Given the description of an element on the screen output the (x, y) to click on. 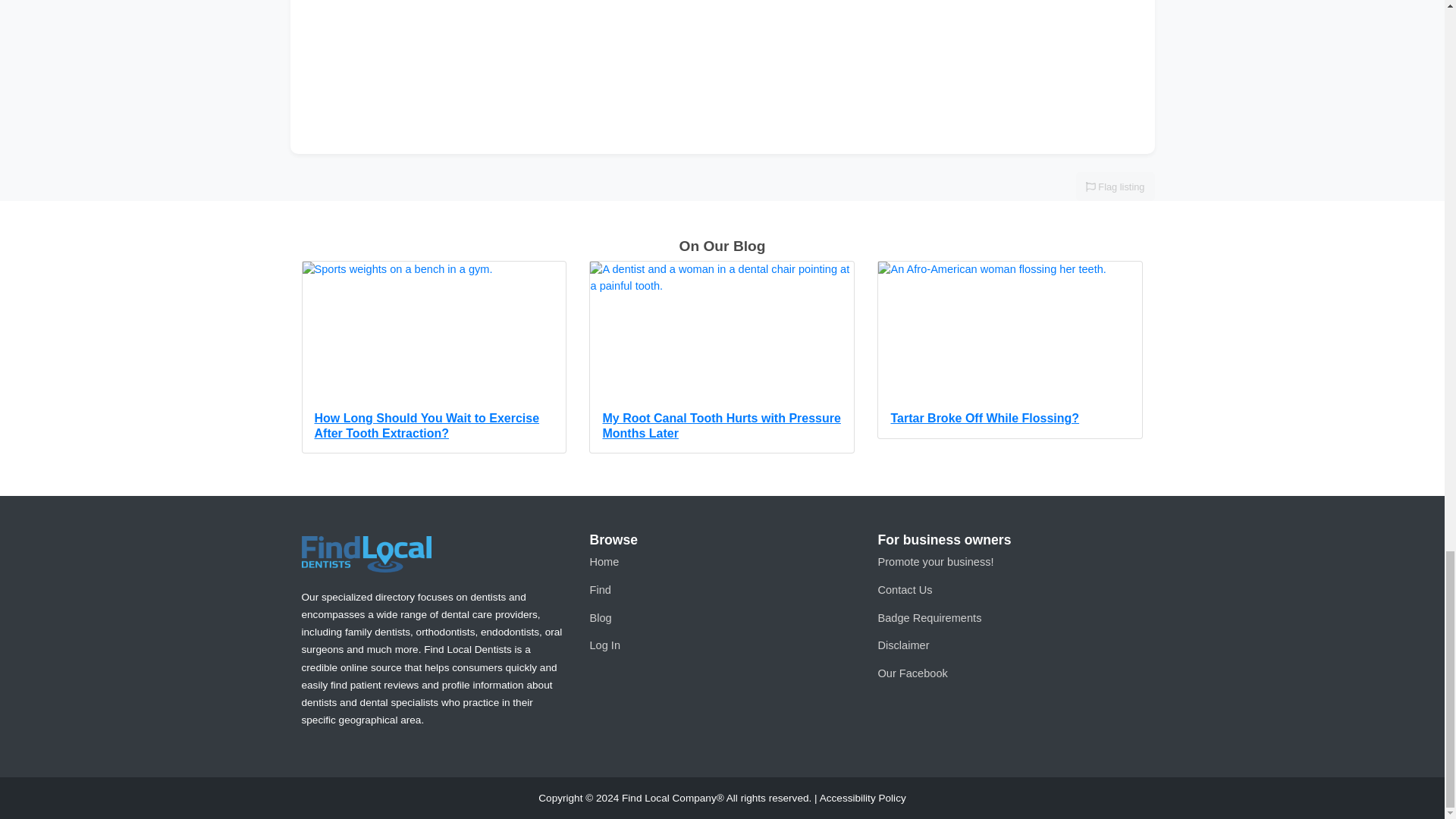
Flag listing (1114, 185)
How Long Should You Wait to Exercise After Tooth Extraction? (434, 357)
Home (603, 562)
Topsfield Smiles - Topsfield location (721, 76)
My Root Canal Tooth Hurts with Pressure Months Later (721, 357)
Promote your business! (934, 562)
Find (599, 589)
Blog (600, 617)
Log In (604, 645)
Tartar Broke Off While Flossing? (1009, 349)
